Given the description of an element on the screen output the (x, y) to click on. 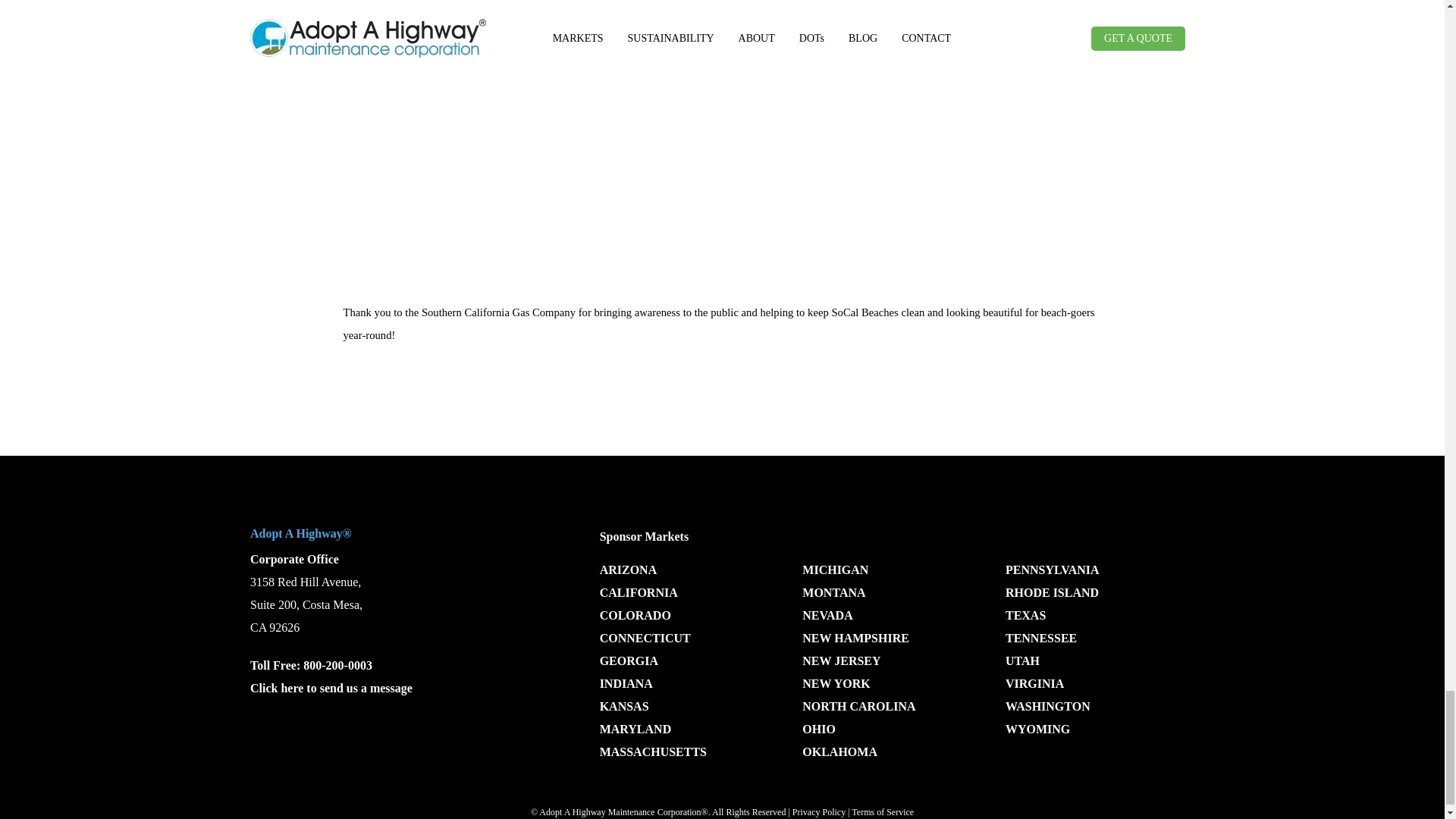
instagram (386, 736)
Click here to send us a message (331, 687)
linkedin (347, 736)
twitter (268, 736)
facebook (307, 736)
800-200-0003 (337, 665)
